Given the description of an element on the screen output the (x, y) to click on. 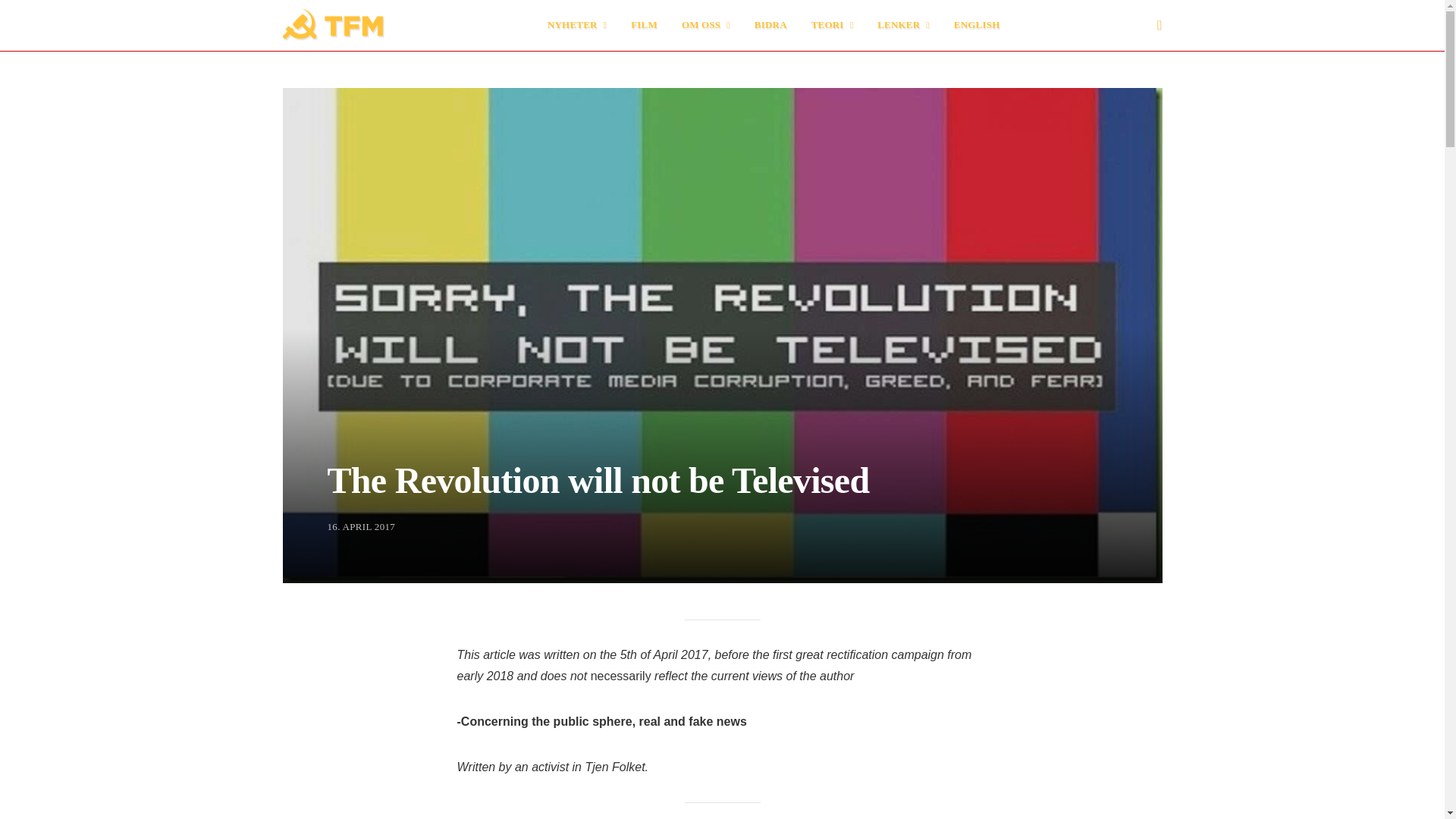
NYHETER (577, 25)
